Given the description of an element on the screen output the (x, y) to click on. 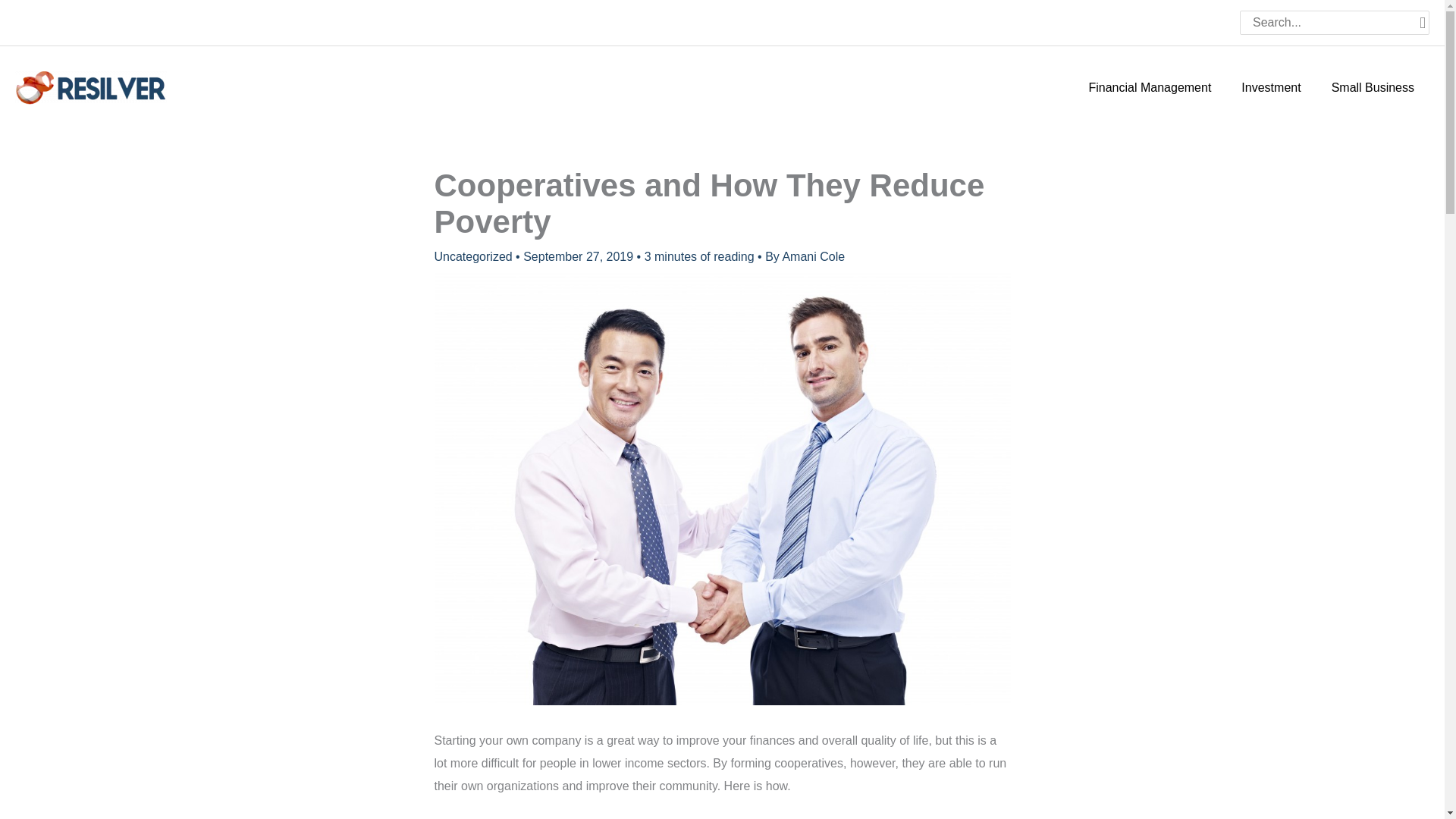
Financial Management (1149, 87)
Small Business (1372, 87)
Amani Cole (812, 256)
Uncategorized (472, 256)
Investment (1270, 87)
View all posts by Amani Cole (812, 256)
